Given the description of an element on the screen output the (x, y) to click on. 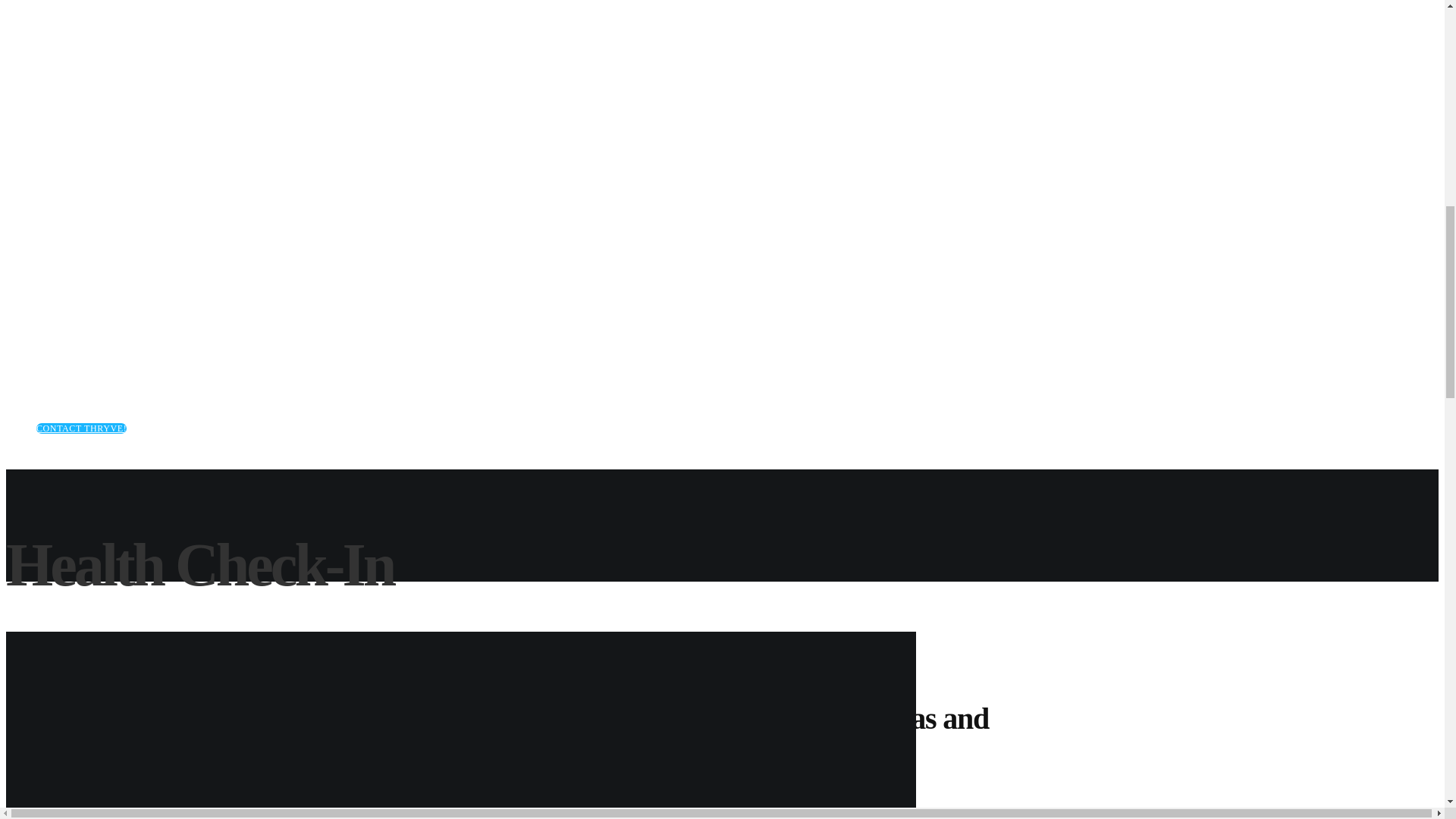
CONTACT (60, 357)
CERTIFICATIONS (78, 235)
OPERATIONS (68, 174)
CONTACT THRYVE! (81, 428)
test title (68, 174)
ARTICLES (60, 296)
SOLUTIONS (64, 113)
ABOUT THRYVE (75, 53)
